Given the description of an element on the screen output the (x, y) to click on. 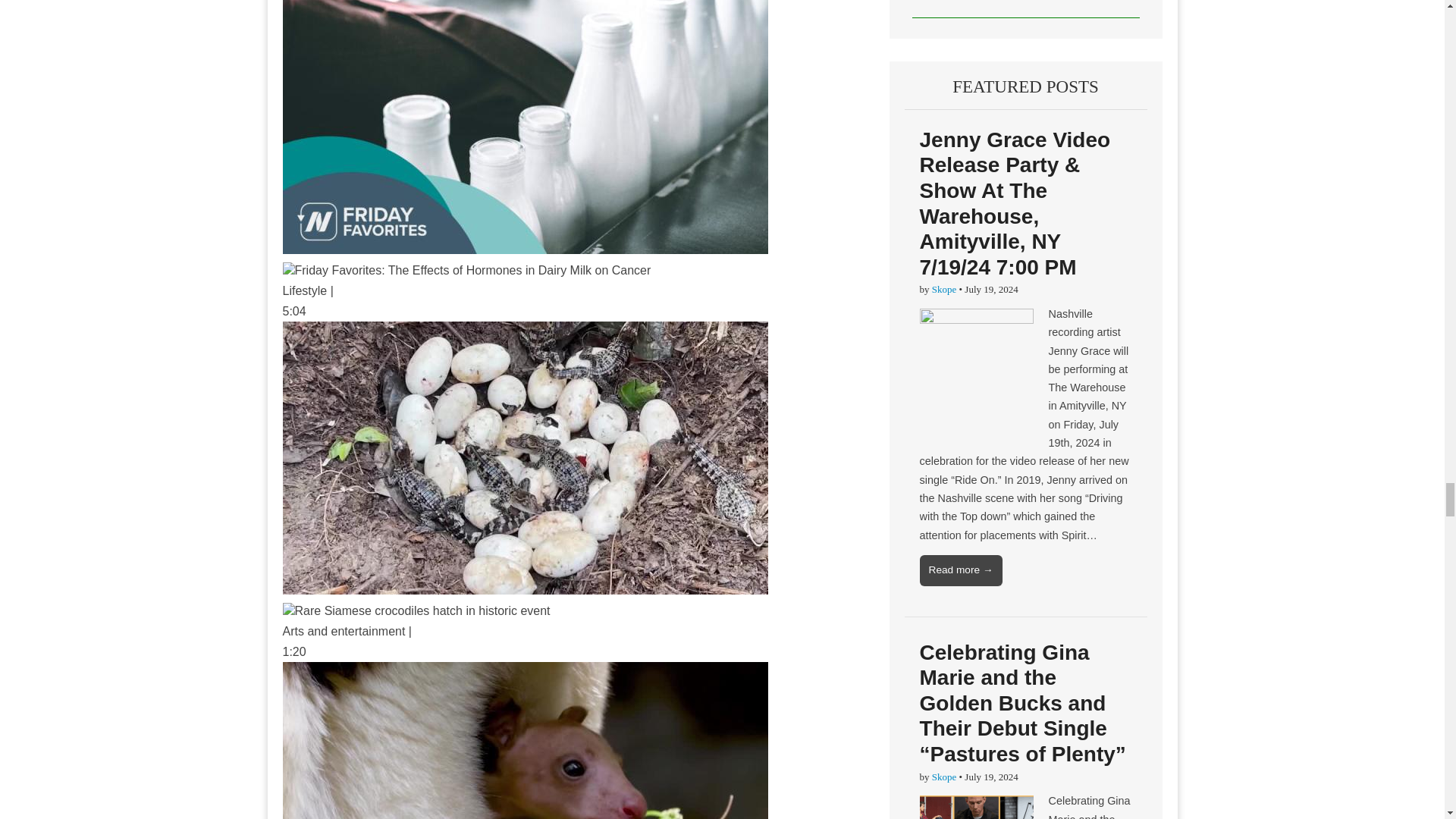
Posts by Skope (943, 288)
Posts by Skope (943, 776)
